Given the description of an element on the screen output the (x, y) to click on. 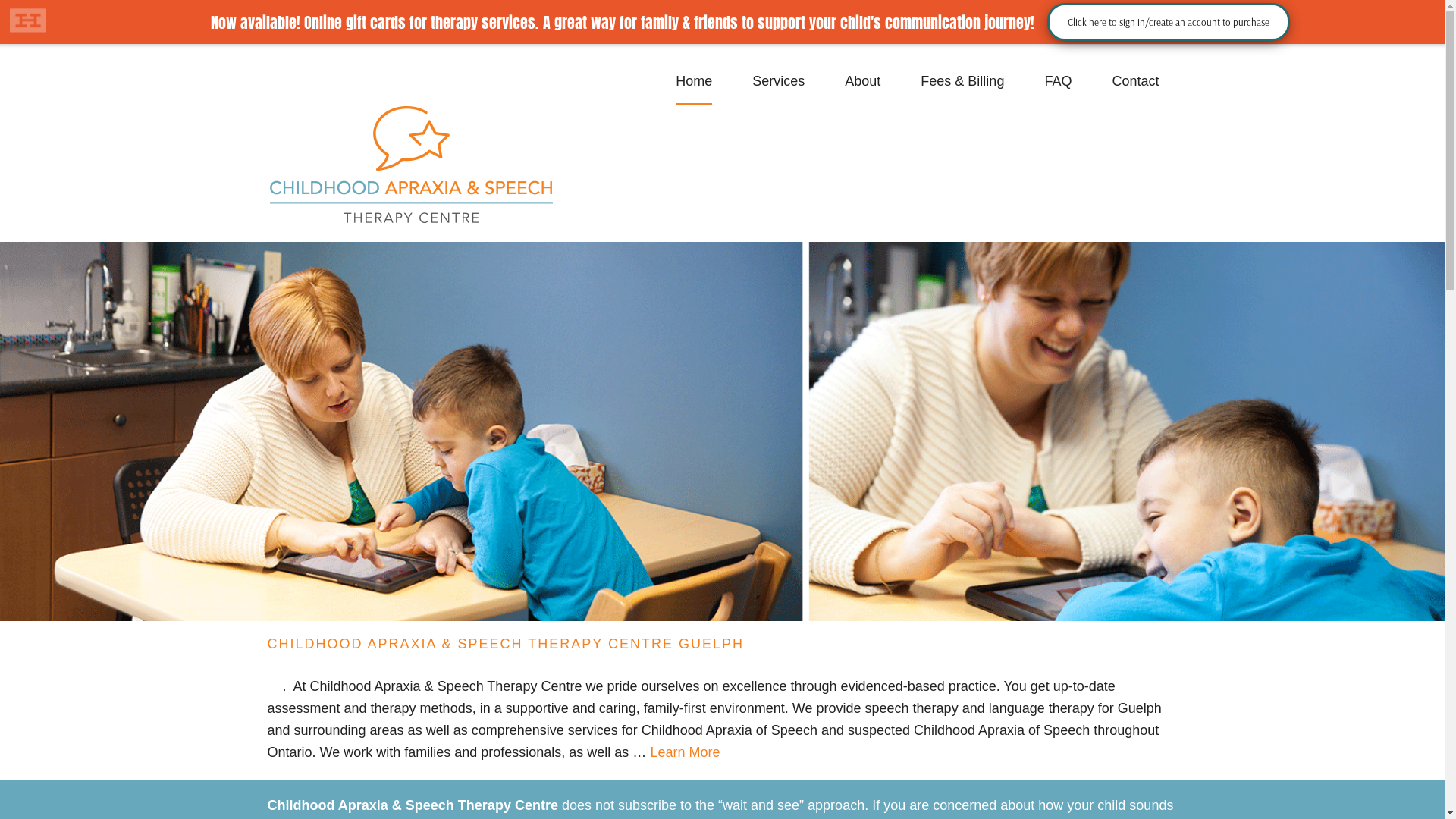
Learn More
about About Element type: text (684, 751)
Fees & Billing Element type: text (962, 81)
Services Element type: text (778, 81)
Home Element type: text (693, 81)
APRAXIA SPEECH THERAPY Element type: text (410, 165)
Contact Element type: text (1134, 81)
FAQ Element type: text (1057, 81)
About Element type: text (862, 81)
Skip to main content Element type: text (0, 43)
